Given the description of an element on the screen output the (x, y) to click on. 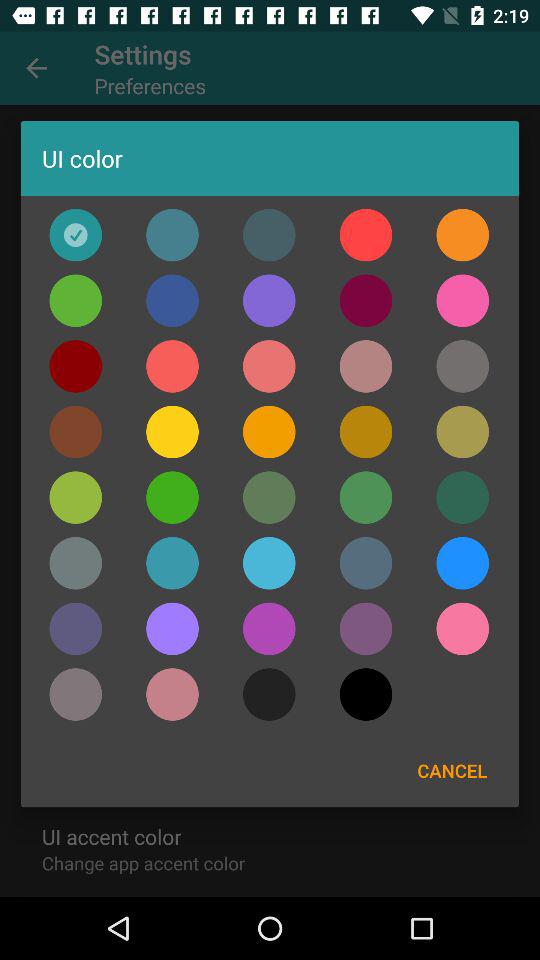
select color purple (269, 628)
